Given the description of an element on the screen output the (x, y) to click on. 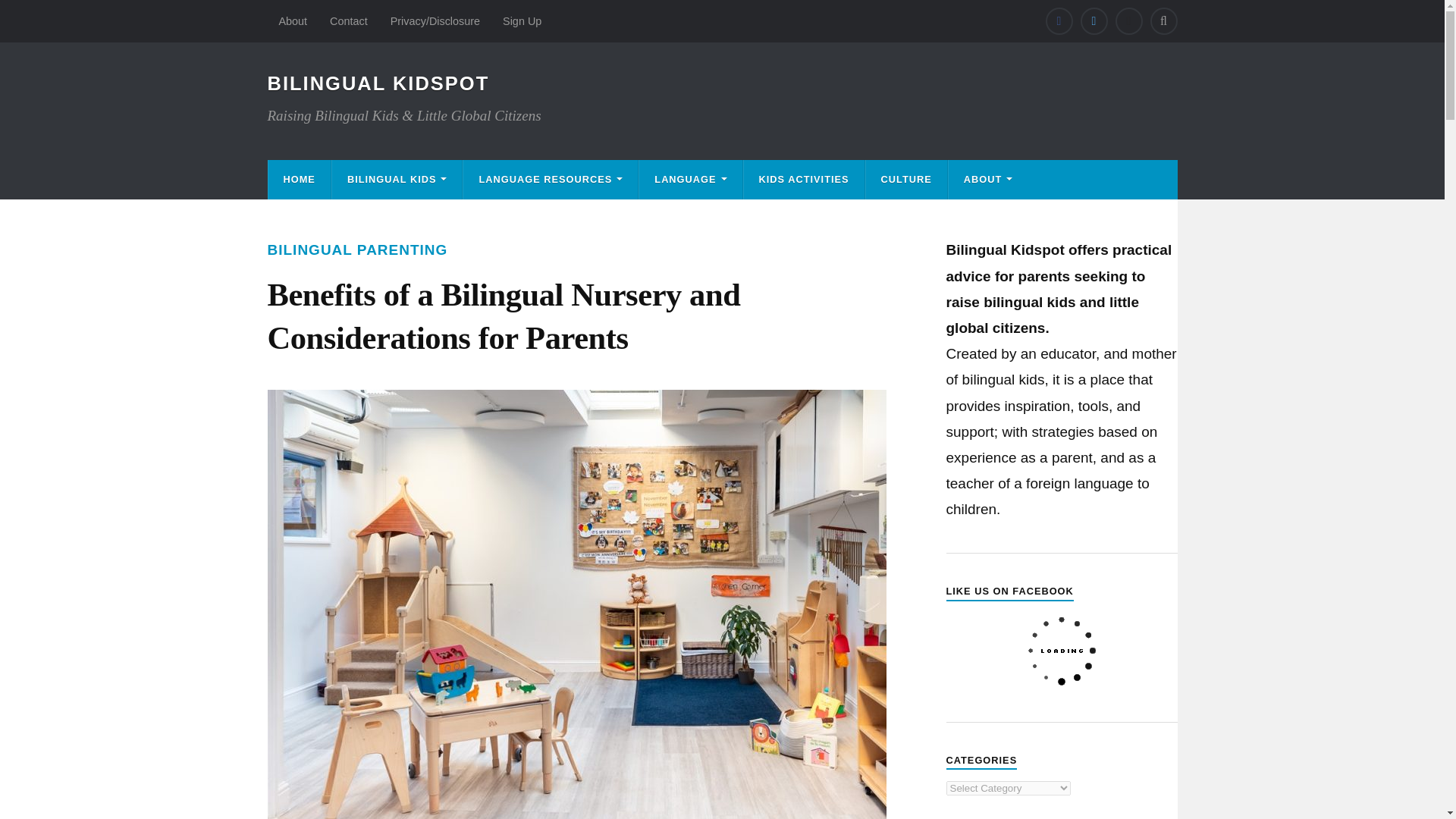
HOME (298, 179)
CULTURE (906, 179)
KIDS ACTIVITIES (804, 179)
BILINGUAL KIDS (397, 179)
Contact (348, 21)
LANGUAGE RESOURCES (550, 179)
About (292, 21)
BILINGUAL KIDSPOT (377, 83)
LANGUAGE (690, 179)
Sign Up (522, 21)
